Given the description of an element on the screen output the (x, y) to click on. 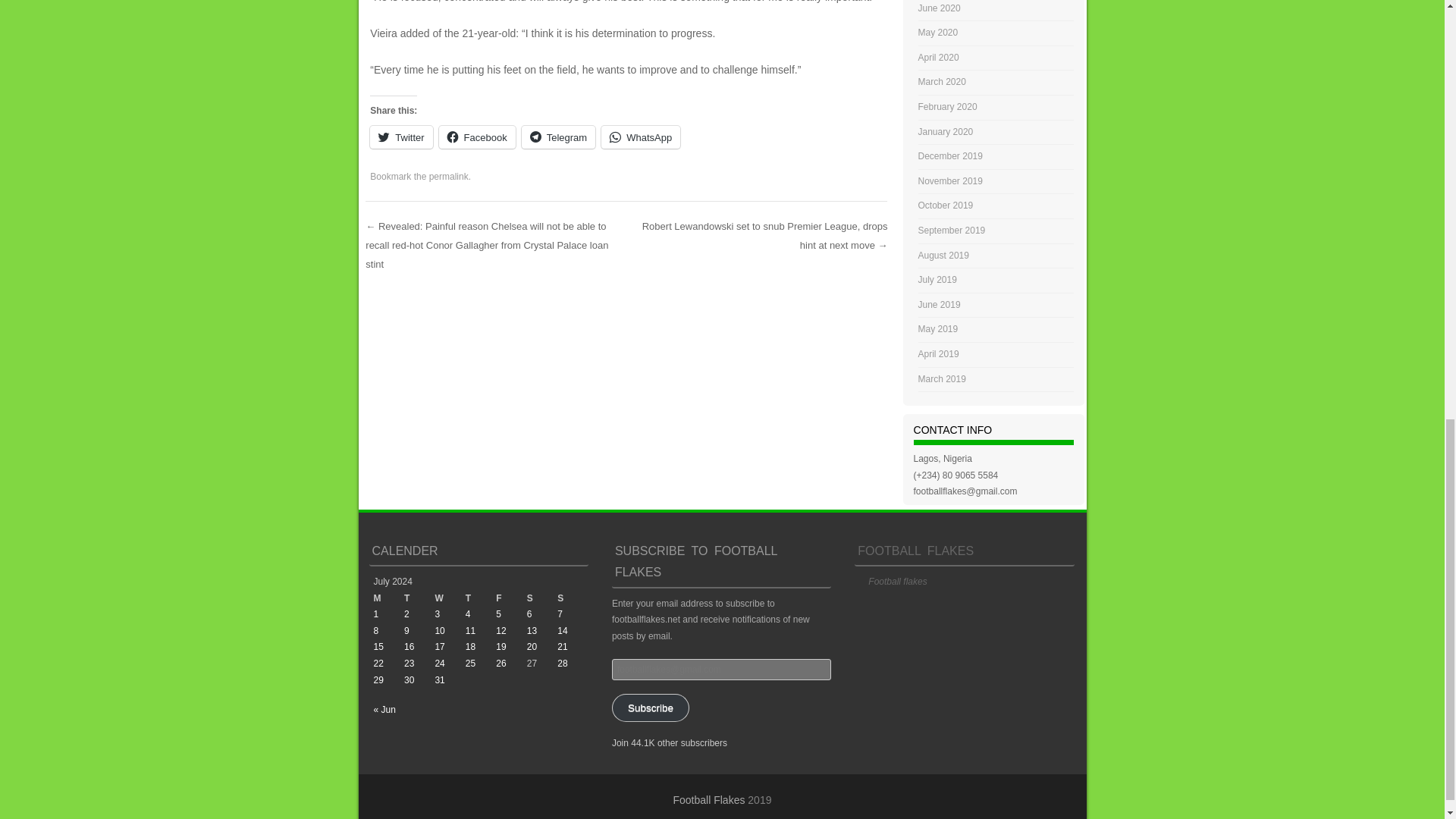
permalink (448, 176)
Twitter (400, 137)
Monday (387, 598)
Wednesday (448, 598)
Click to share on WhatsApp (640, 137)
Click to share on Facebook (477, 137)
Tuesday (418, 598)
Friday (510, 598)
Click to share on Telegram (558, 137)
WhatsApp (640, 137)
Click to share on Twitter (400, 137)
Thursday (480, 598)
Facebook (477, 137)
Telegram (558, 137)
